Given the description of an element on the screen output the (x, y) to click on. 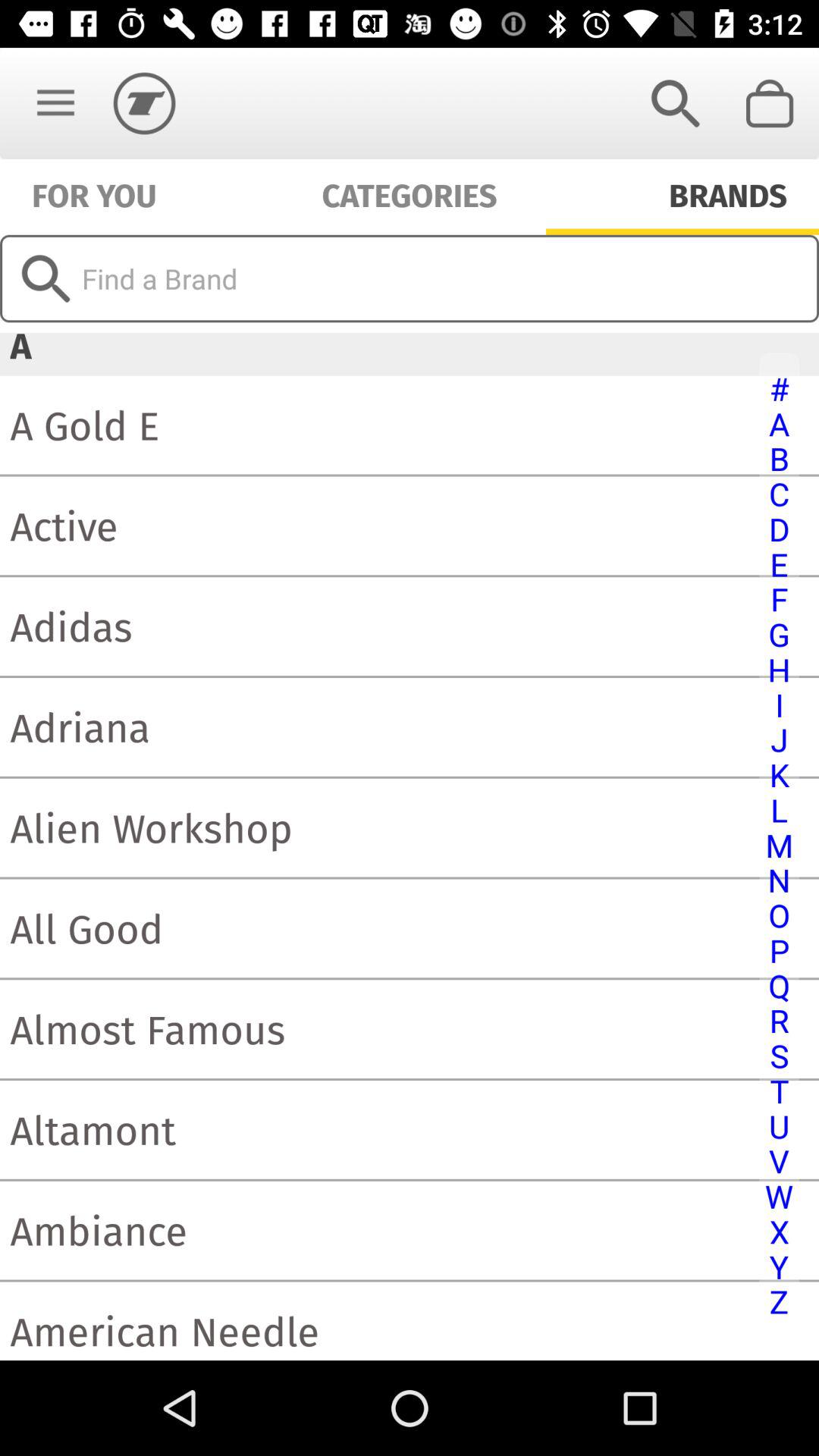
search for band by name (409, 278)
